Given the description of an element on the screen output the (x, y) to click on. 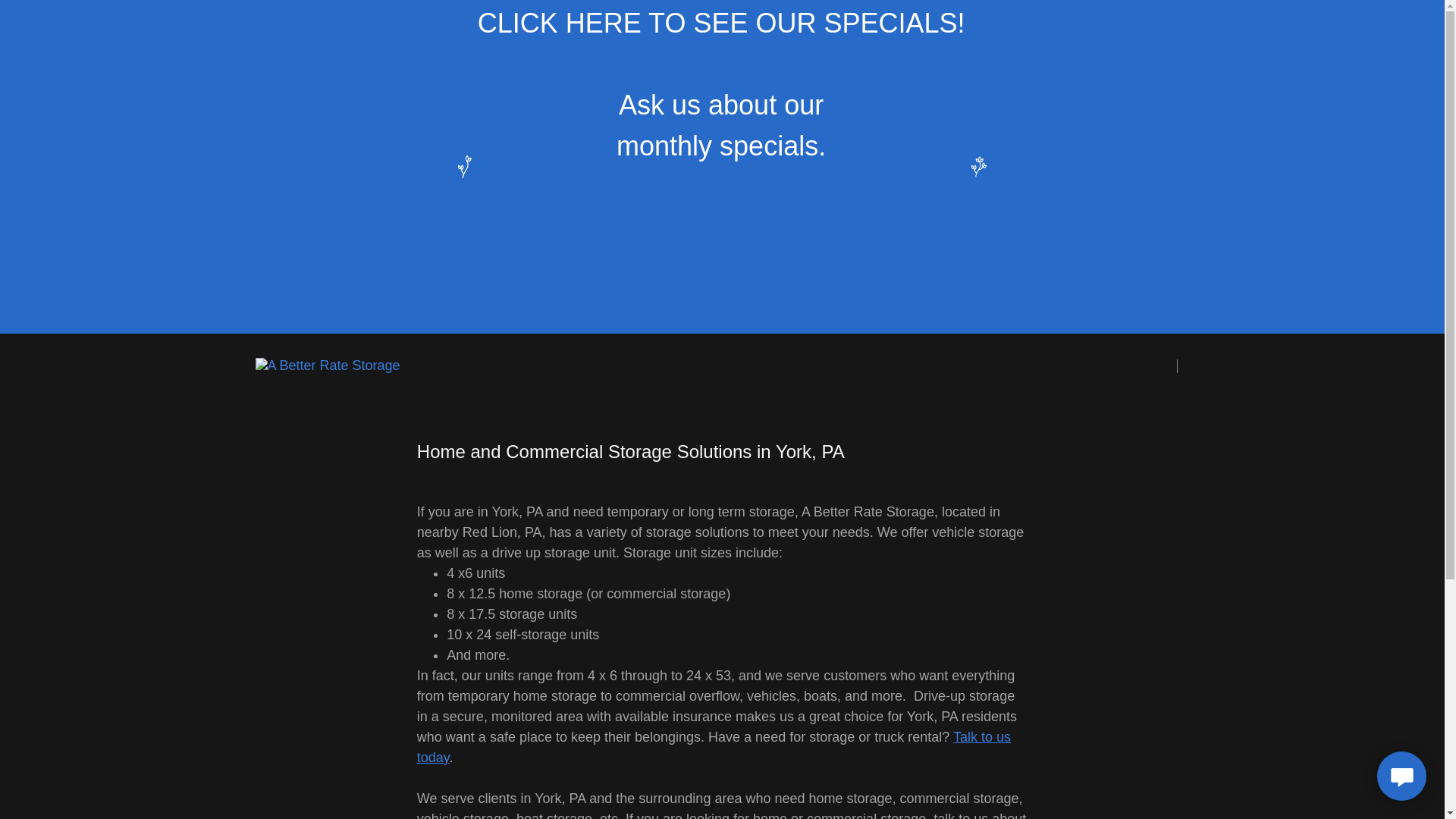
A Better Rate Storage (326, 365)
Talk to us today (713, 746)
